Given the description of an element on the screen output the (x, y) to click on. 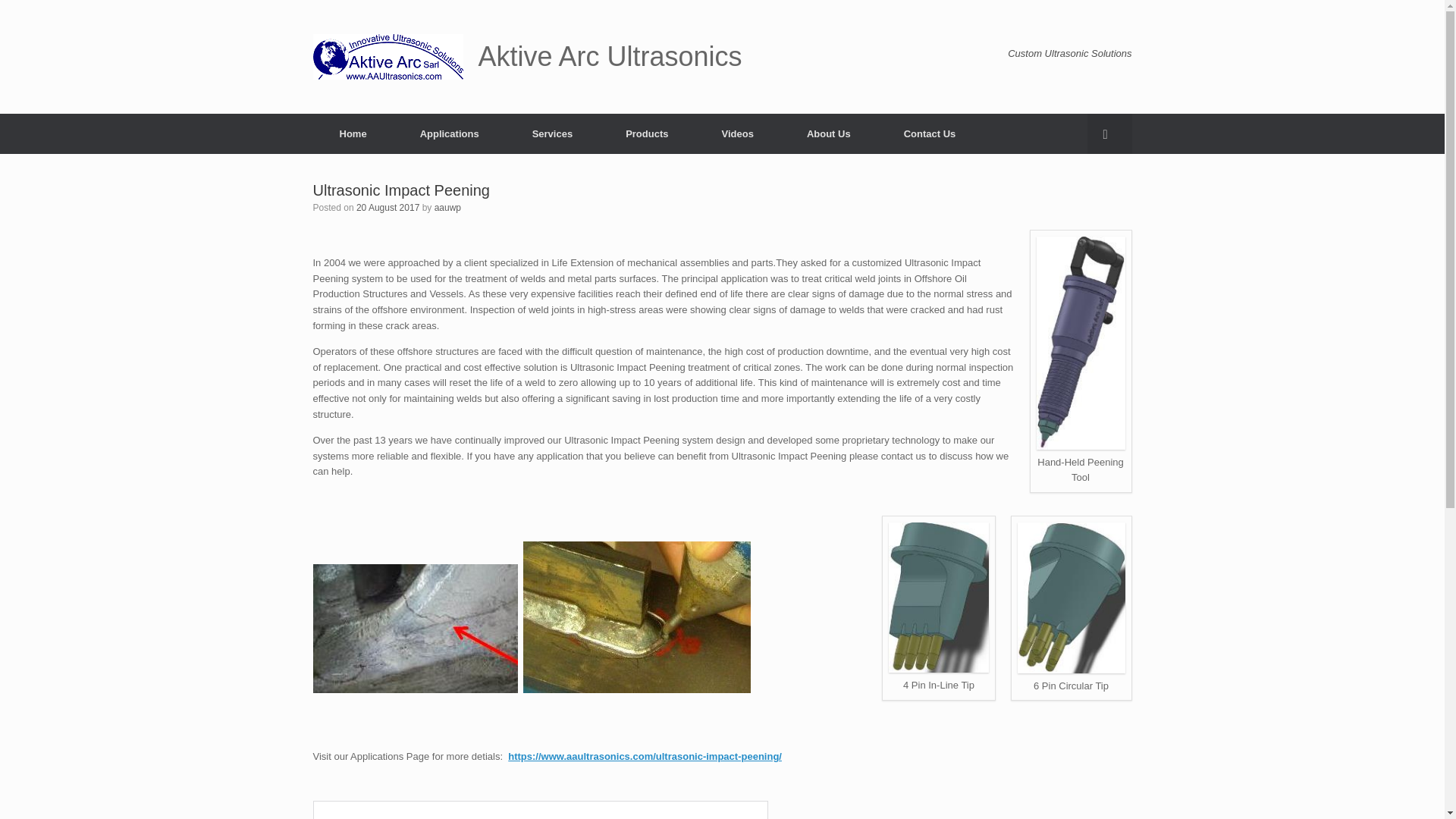
Services (552, 133)
View all posts by aauwp (447, 207)
Aktive Arc Ultrasonics (527, 56)
Contact Us (929, 133)
15:42 (387, 207)
About Us (828, 133)
Home (353, 133)
Aktive Arc Ultrasonics (527, 56)
aauwp (447, 207)
Videos (736, 133)
